Given the description of an element on the screen output the (x, y) to click on. 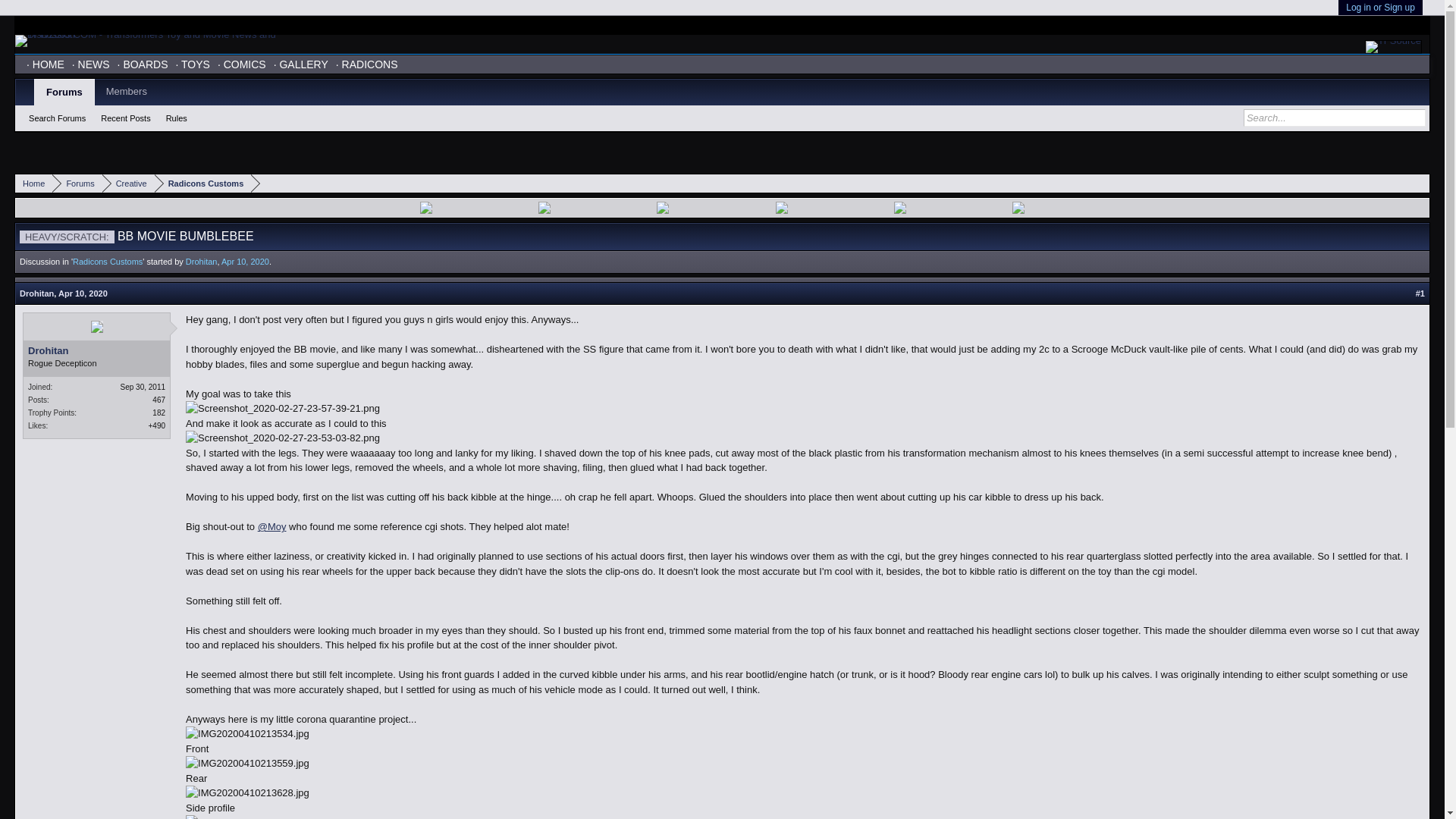
Open quick navigation (1420, 183)
Apr 10, 2020 (245, 261)
Permalink (82, 292)
Creative (127, 183)
467 (158, 399)
Visit Toyark.com for Action Figures and Toys (1391, 25)
182 (158, 411)
Forums (76, 183)
Visit TFW2005.com for Transformers (1115, 25)
Radicons Customs (202, 183)
